Given the description of an element on the screen output the (x, y) to click on. 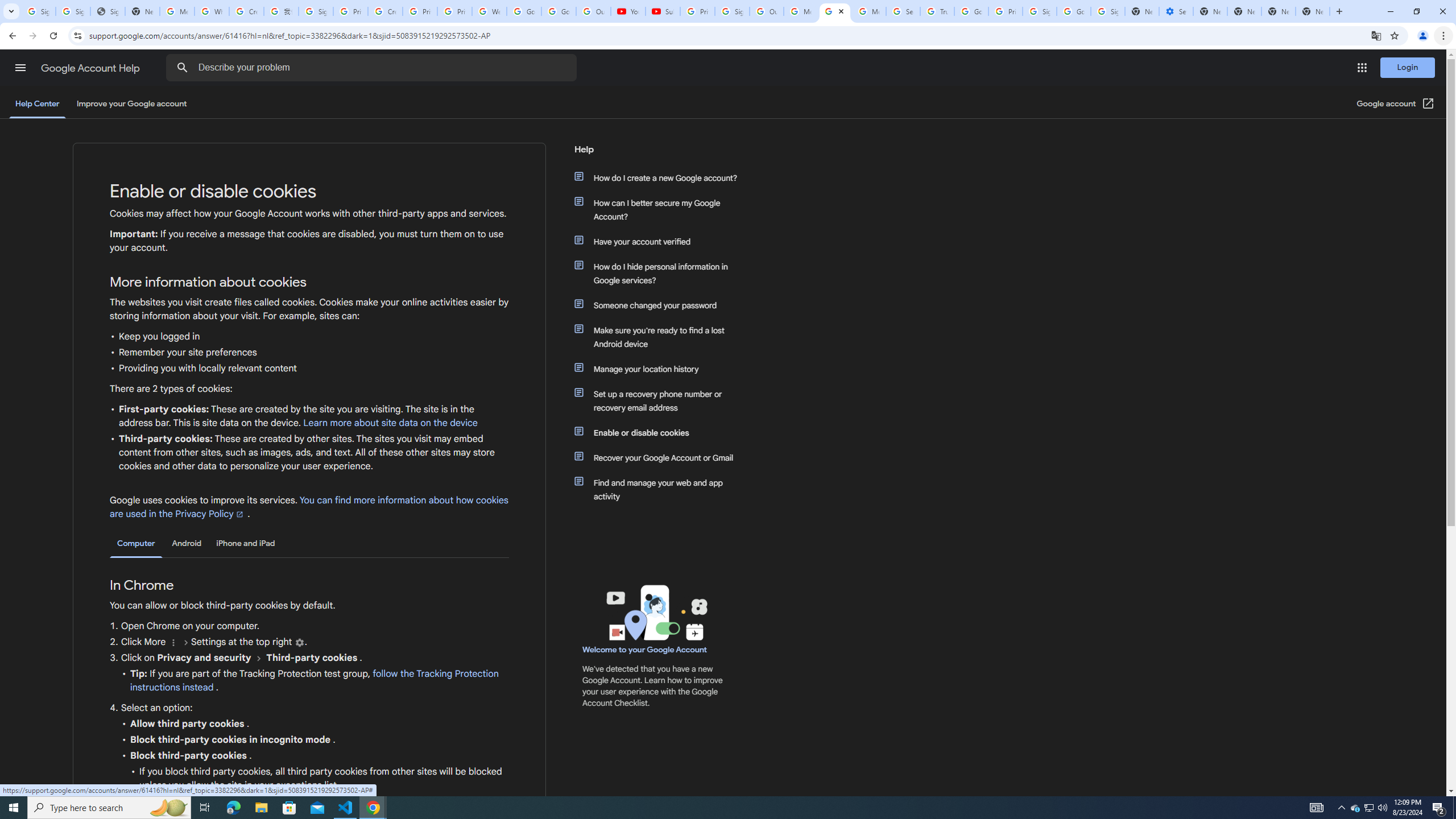
More (173, 642)
Settings - Performance (1176, 11)
Sign in - Google Accounts (315, 11)
Someone changed your password (661, 305)
How can I better secure my Google Account? (661, 209)
Translate this page (1376, 35)
Welcome to your Google Account (644, 649)
Make sure you're ready to find a lost Android device (661, 336)
Turn cookies on or off - Computer - Google Account Help (834, 11)
Login (1407, 67)
Search our Doodle Library Collection - Google Doodles (903, 11)
Sign in - Google Accounts (732, 11)
